Given the description of an element on the screen output the (x, y) to click on. 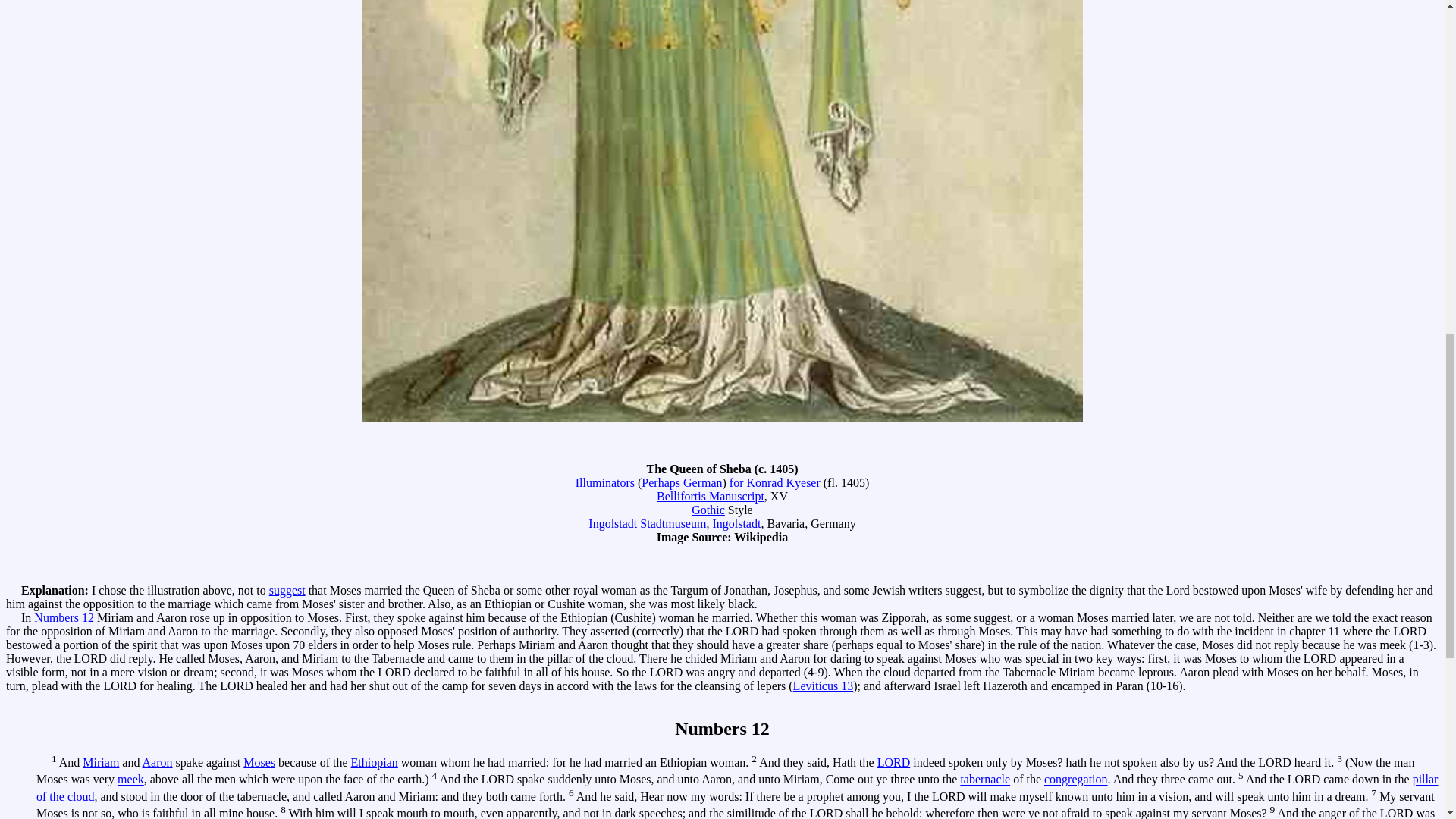
for (736, 481)
Bellifortis Manuscript (710, 495)
tabernacle (984, 779)
Numbers 12 (63, 617)
Ethiopian (373, 762)
Miriam (100, 762)
pillar of the cloud (737, 788)
Konrad Kyeser (782, 481)
Ingolstadt Stadtmuseum (647, 522)
Perhaps German (682, 481)
meek (130, 779)
Gothic (708, 509)
suggest (287, 590)
congregation (1075, 779)
Aaron (157, 762)
